Given the description of an element on the screen output the (x, y) to click on. 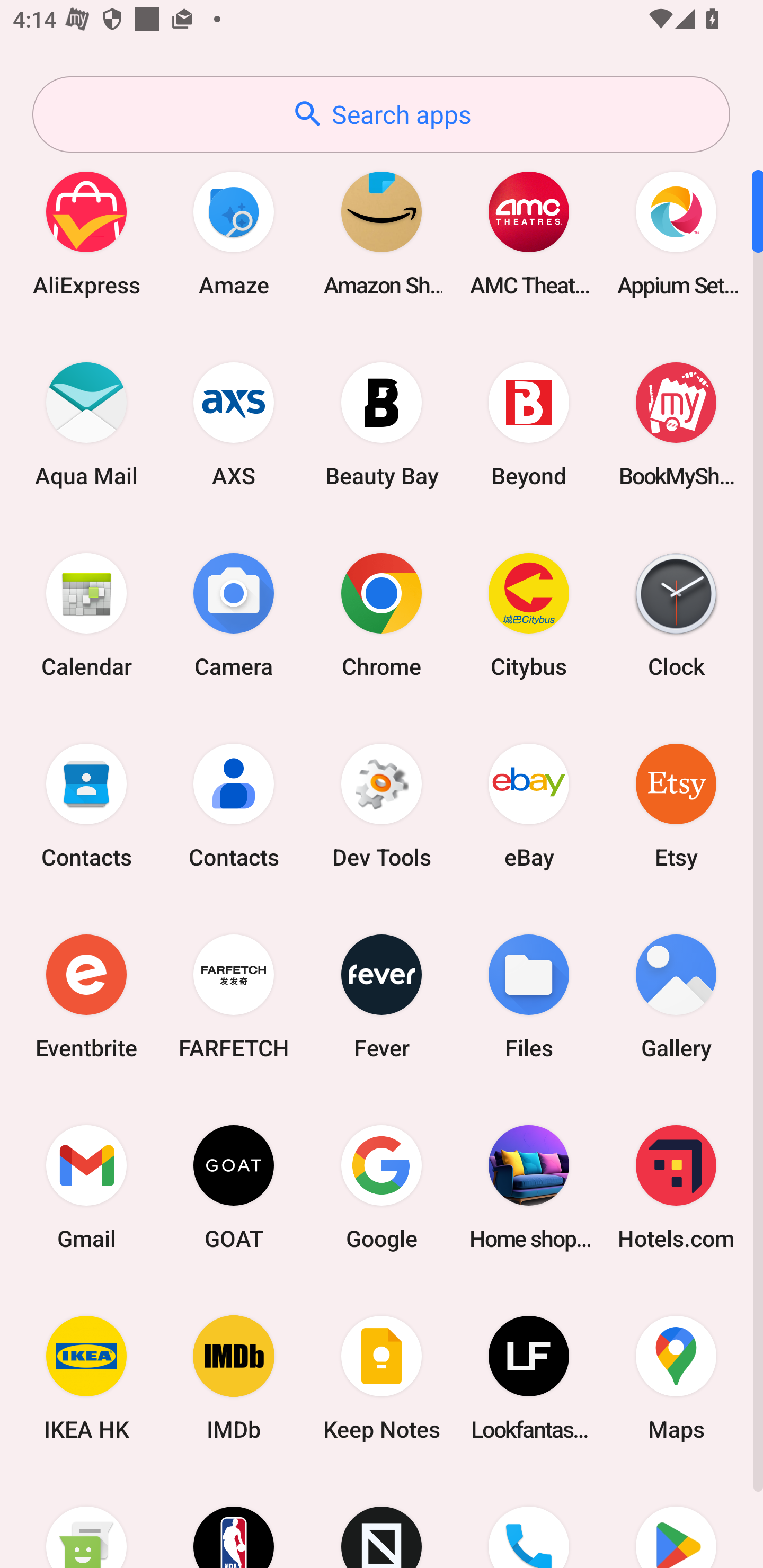
  Search apps (381, 114)
AliExpress (86, 233)
Amaze (233, 233)
Amazon Shopping (381, 233)
AMC Theatres (528, 233)
Appium Settings (676, 233)
Aqua Mail (86, 424)
AXS (233, 424)
Beauty Bay (381, 424)
Beyond (528, 424)
BookMyShow (676, 424)
Calendar (86, 614)
Camera (233, 614)
Chrome (381, 614)
Citybus (528, 614)
Clock (676, 614)
Contacts (86, 805)
Contacts (233, 805)
Dev Tools (381, 805)
eBay (528, 805)
Etsy (676, 805)
Eventbrite (86, 996)
FARFETCH (233, 996)
Fever (381, 996)
Files (528, 996)
Gallery (676, 996)
Gmail (86, 1186)
GOAT (233, 1186)
Google (381, 1186)
Home shopping (528, 1186)
Hotels.com (676, 1186)
IKEA HK (86, 1377)
IMDb (233, 1377)
Keep Notes (381, 1377)
Lookfantastic (528, 1377)
Maps (676, 1377)
